Given the description of an element on the screen output the (x, y) to click on. 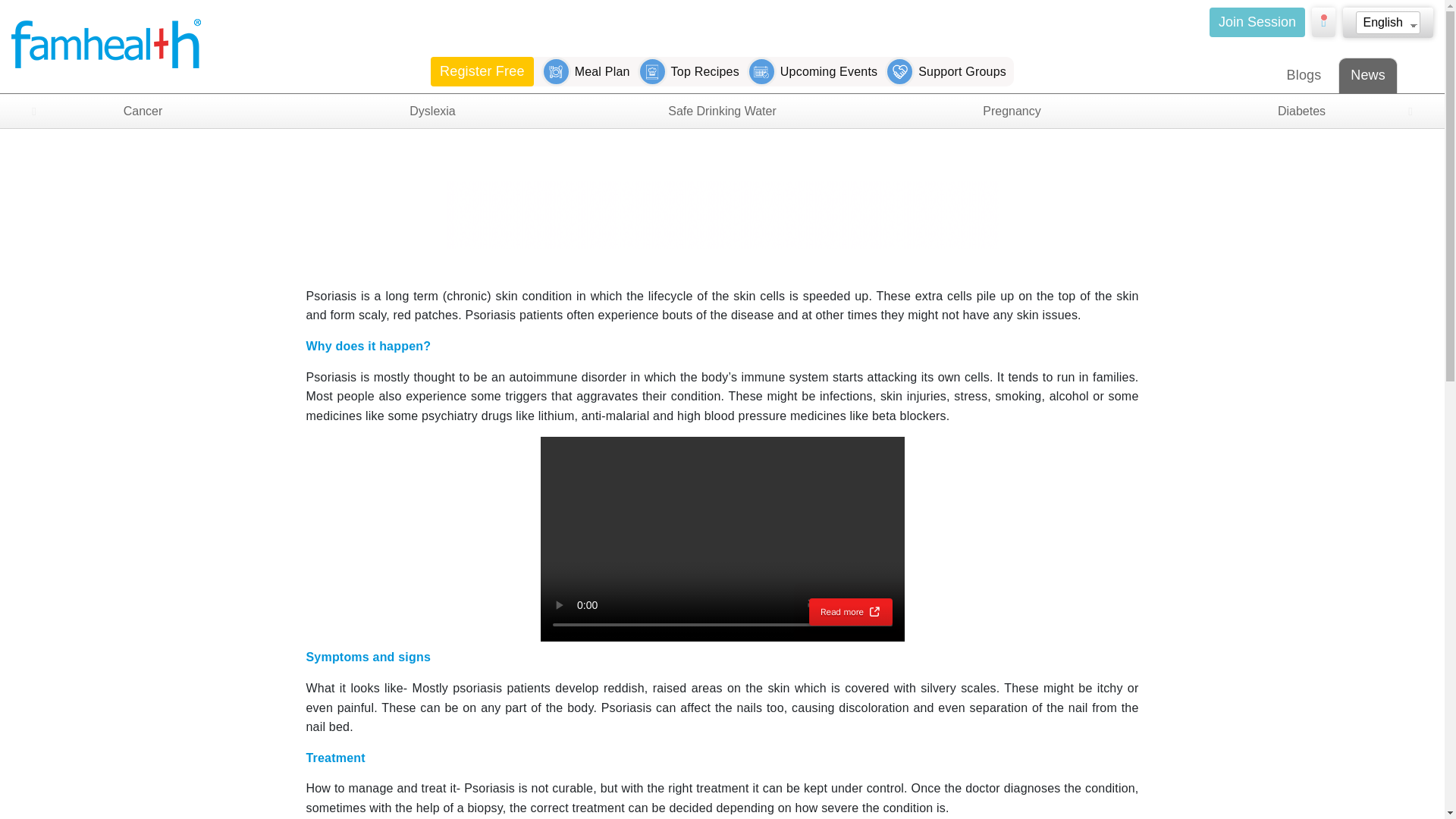
Join Session (1254, 21)
Dyslexia (431, 110)
Support Groups (945, 71)
Cancer (143, 110)
English (1382, 22)
3rd party ad content (721, 214)
Join Session (1256, 21)
Diabetes (1301, 110)
Upcoming Events (811, 71)
Blogs (1303, 75)
Pregnancy (1011, 110)
Meal Plan (585, 71)
Safe Drinking Water (722, 110)
Top Recipes (688, 71)
Register Free (482, 71)
